Given the description of an element on the screen output the (x, y) to click on. 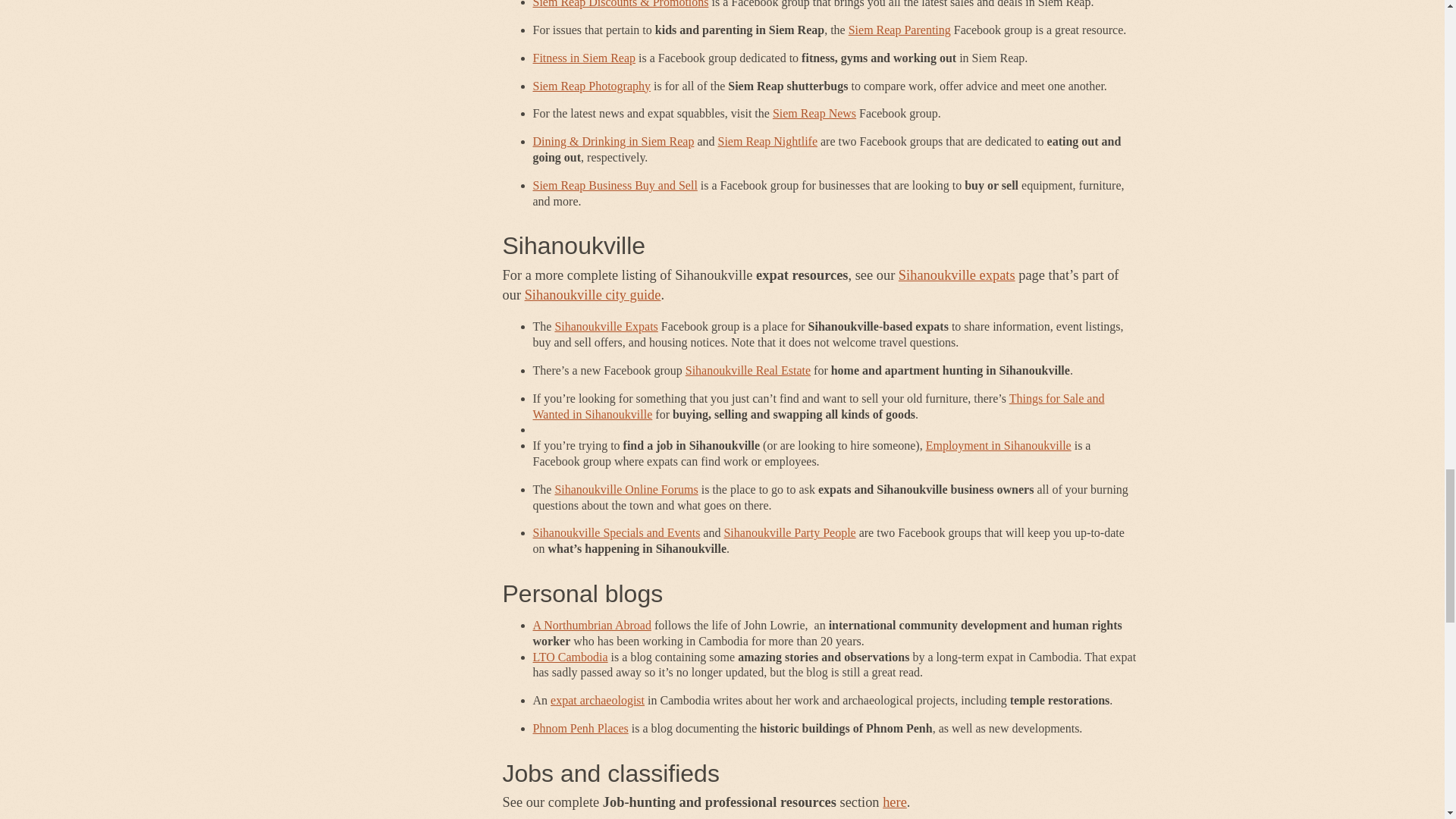
Cambodia job-hunting and professional resources (894, 801)
